Given the description of an element on the screen output the (x, y) to click on. 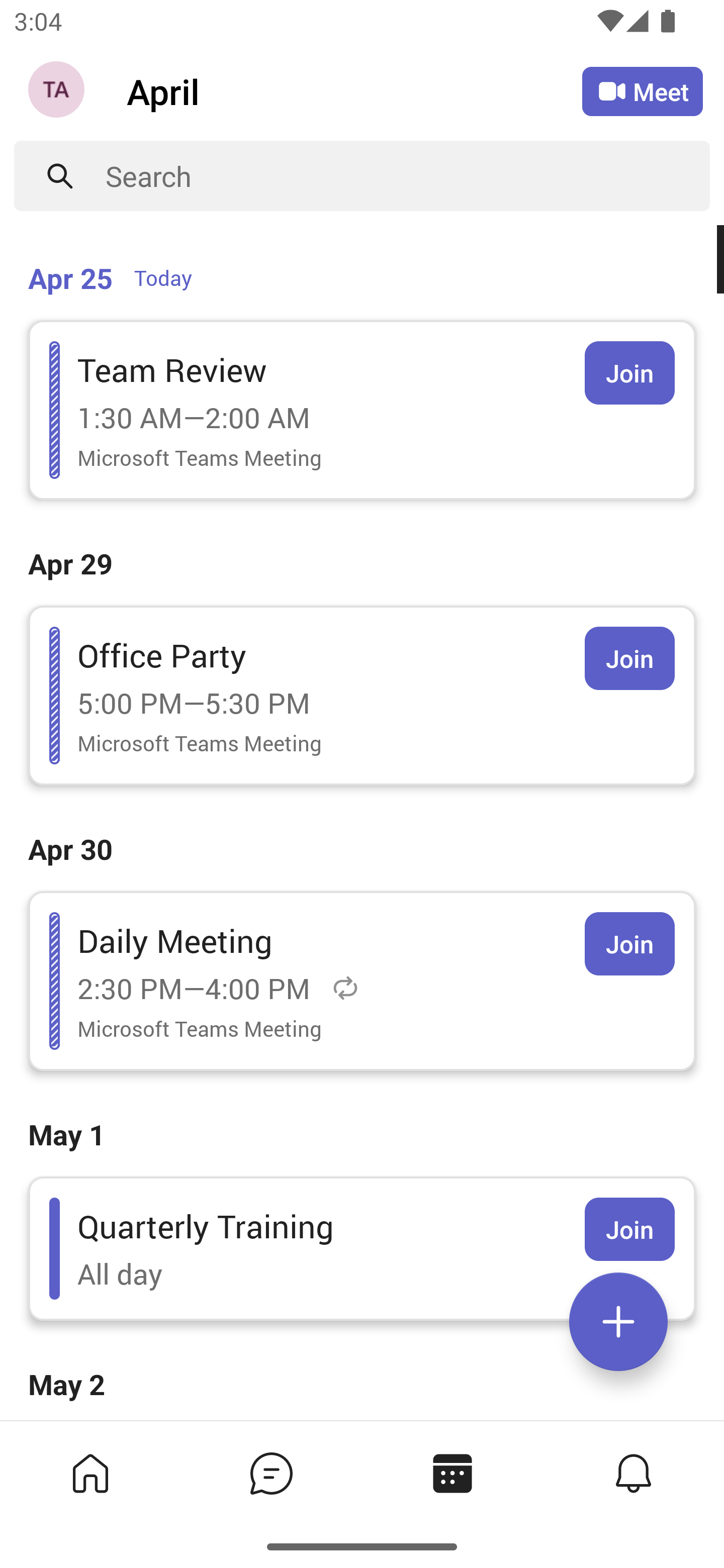
Navigation (58, 91)
Meet Meet now or join with an ID (642, 91)
April April Calendar Agenda View (354, 90)
Search (407, 176)
Join (629, 372)
Join (629, 658)
Join (629, 943)
Join (629, 1228)
Expand meetings menu (618, 1321)
Home tab,1 of 4, not selected (90, 1472)
Chat tab,2 of 4, not selected (271, 1472)
Calendar tab, 3 of 4 (452, 1472)
Activity tab,4 of 4, not selected (633, 1472)
